Given the description of an element on the screen output the (x, y) to click on. 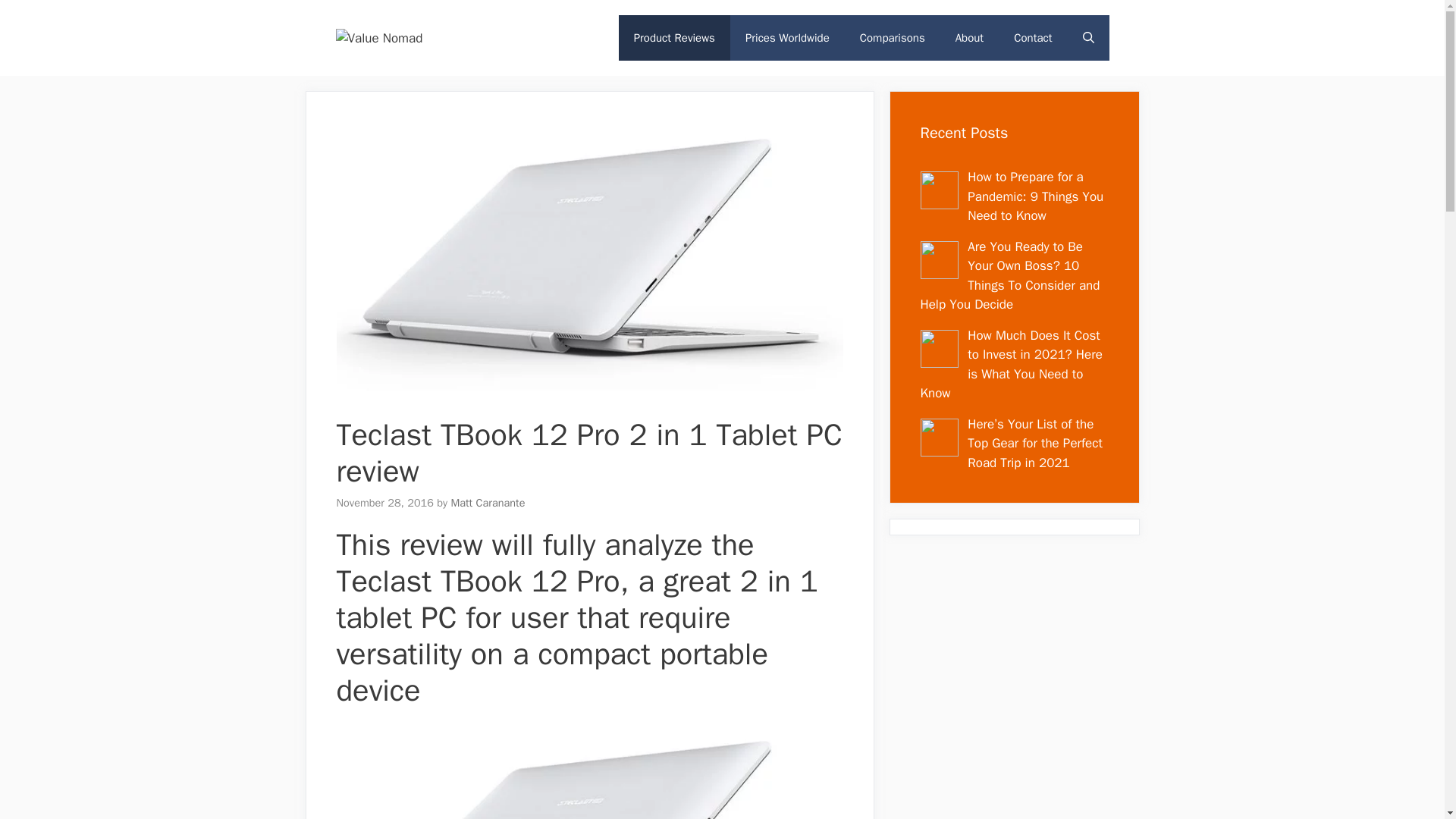
Prices Worldwide (787, 37)
How to Prepare for a Pandemic: 9 Things You Need to Know (1035, 195)
View all posts by Matt Caranante (486, 502)
Comparisons (892, 37)
Value Nomad (378, 37)
Product Reviews (674, 37)
Contact (1032, 37)
Matt Caranante (486, 502)
